Given the description of an element on the screen output the (x, y) to click on. 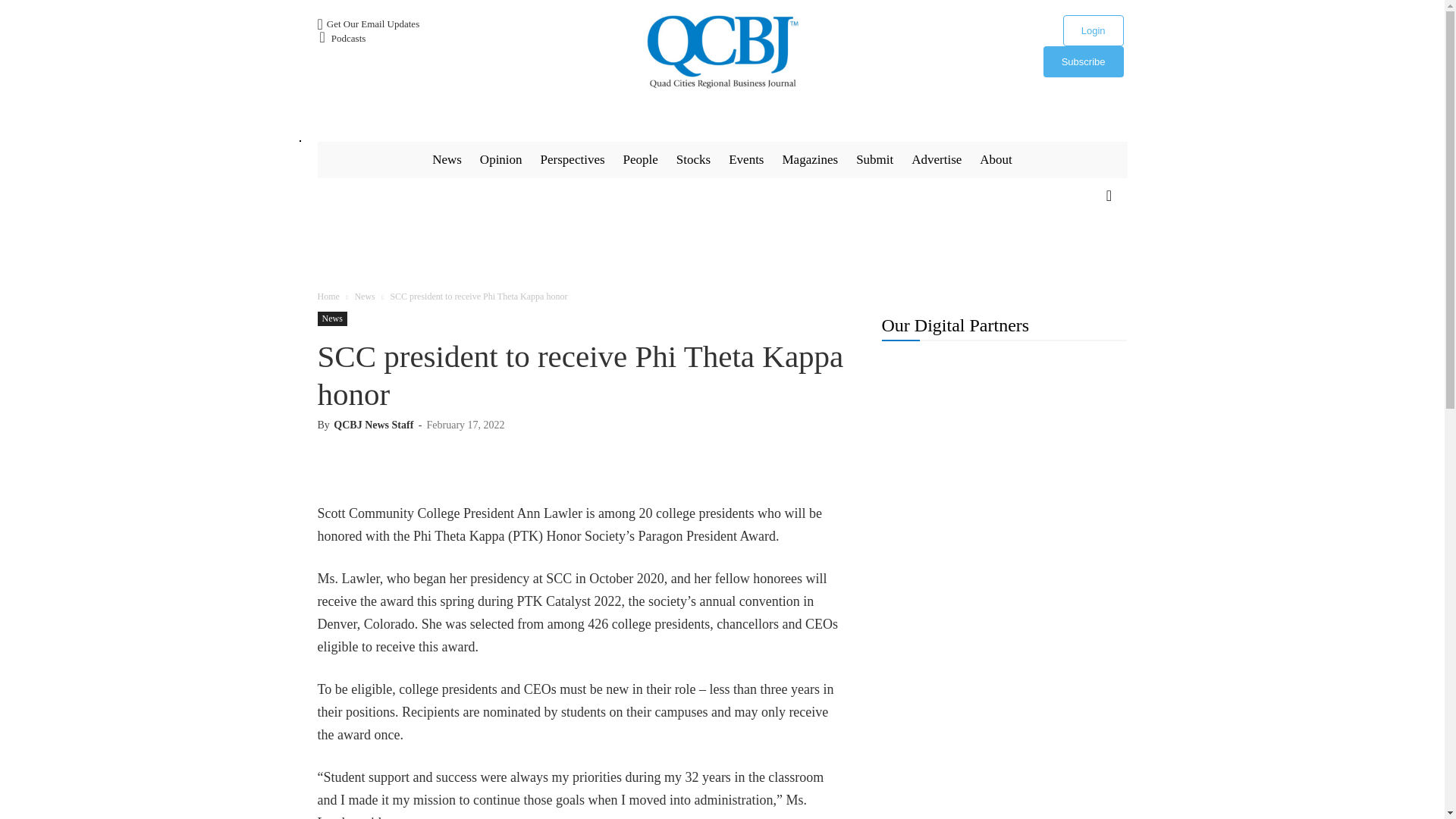
Business News for Quad Cities (721, 51)
Subscribe (1083, 60)
Login (1093, 30)
Business News for Quad Cities (722, 51)
